Given the description of an element on the screen output the (x, y) to click on. 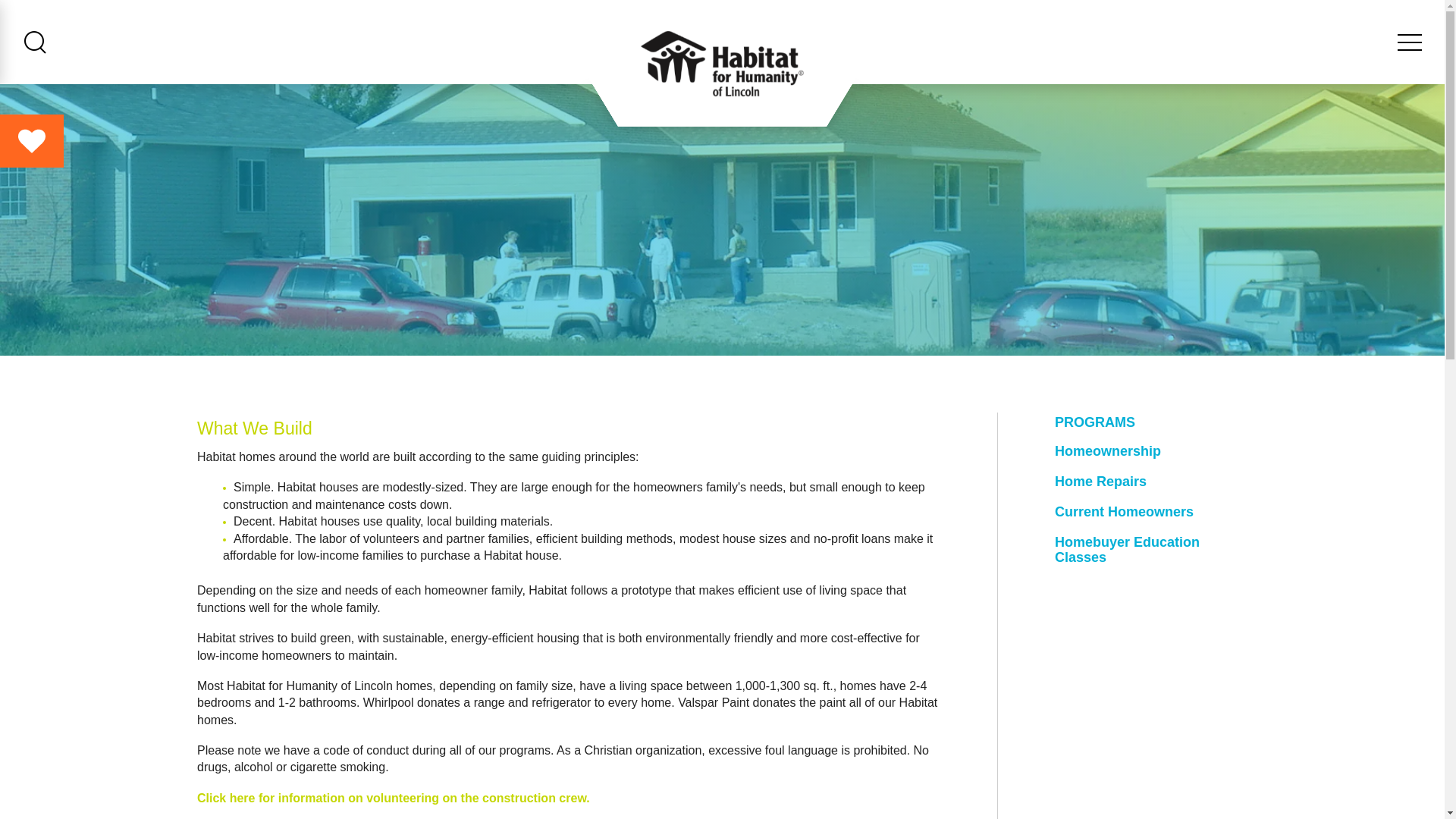
logo (722, 63)
Homebuyer Education Classes (1150, 549)
Current Homeowners (1150, 511)
Home Repairs (1150, 481)
Homeownership (1150, 450)
